Given the description of an element on the screen output the (x, y) to click on. 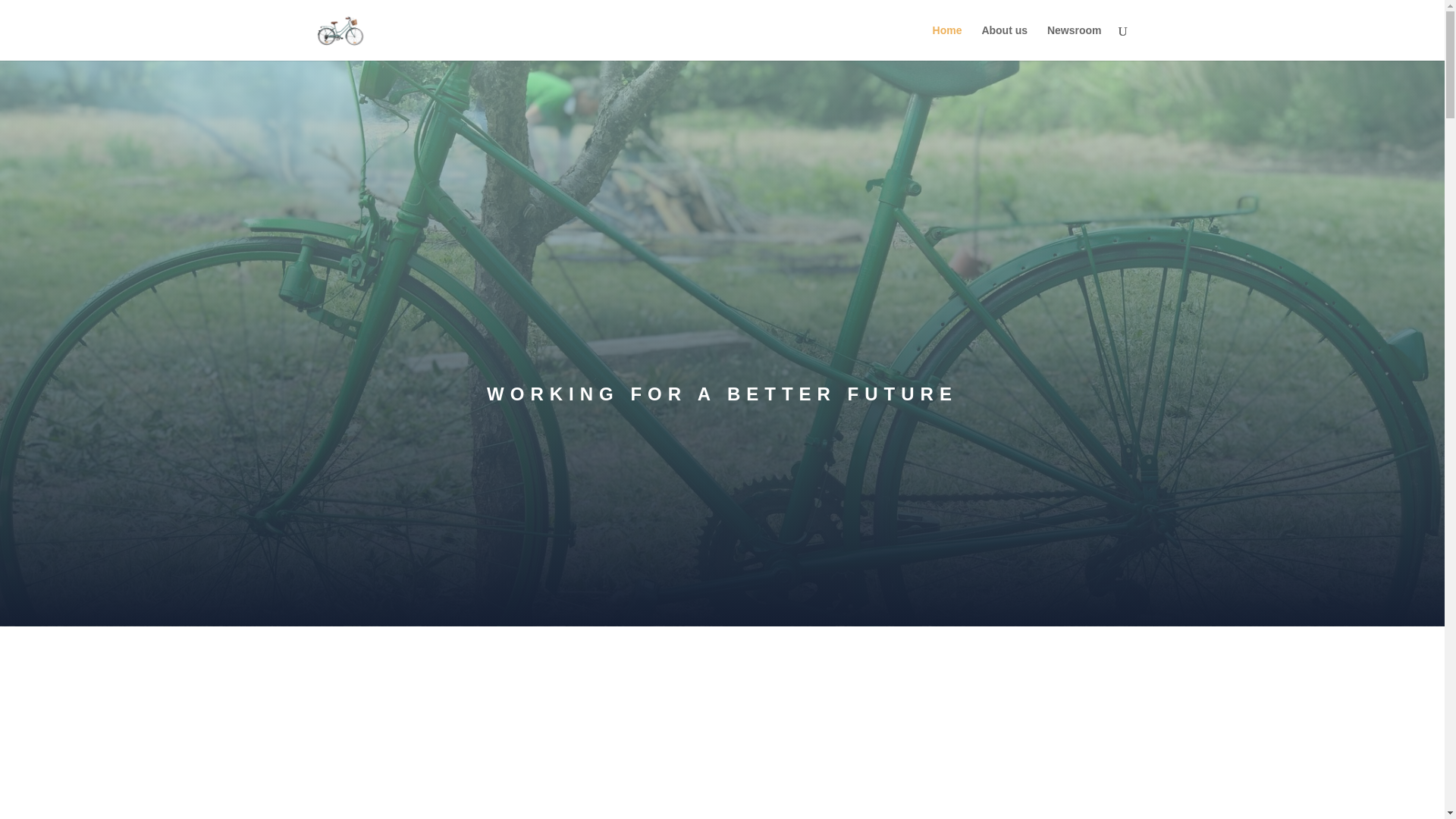
Newsroom (1074, 42)
About us (1004, 42)
